Given the description of an element on the screen output the (x, y) to click on. 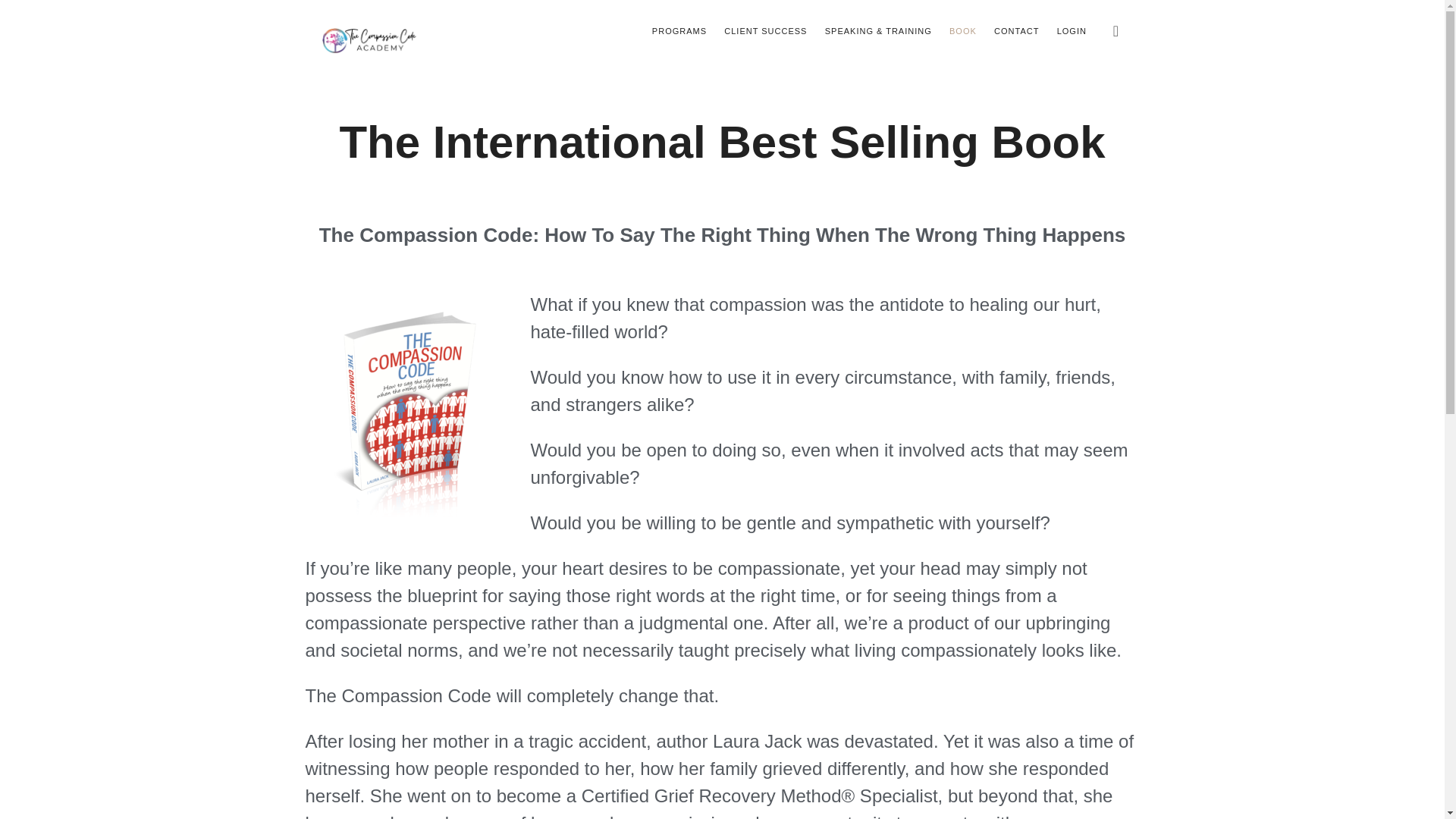
CONTACT (1016, 31)
CLIENT SUCCESS (764, 31)
View your shopping cart (1115, 31)
PROGRAMS (679, 31)
